Given the description of an element on the screen output the (x, y) to click on. 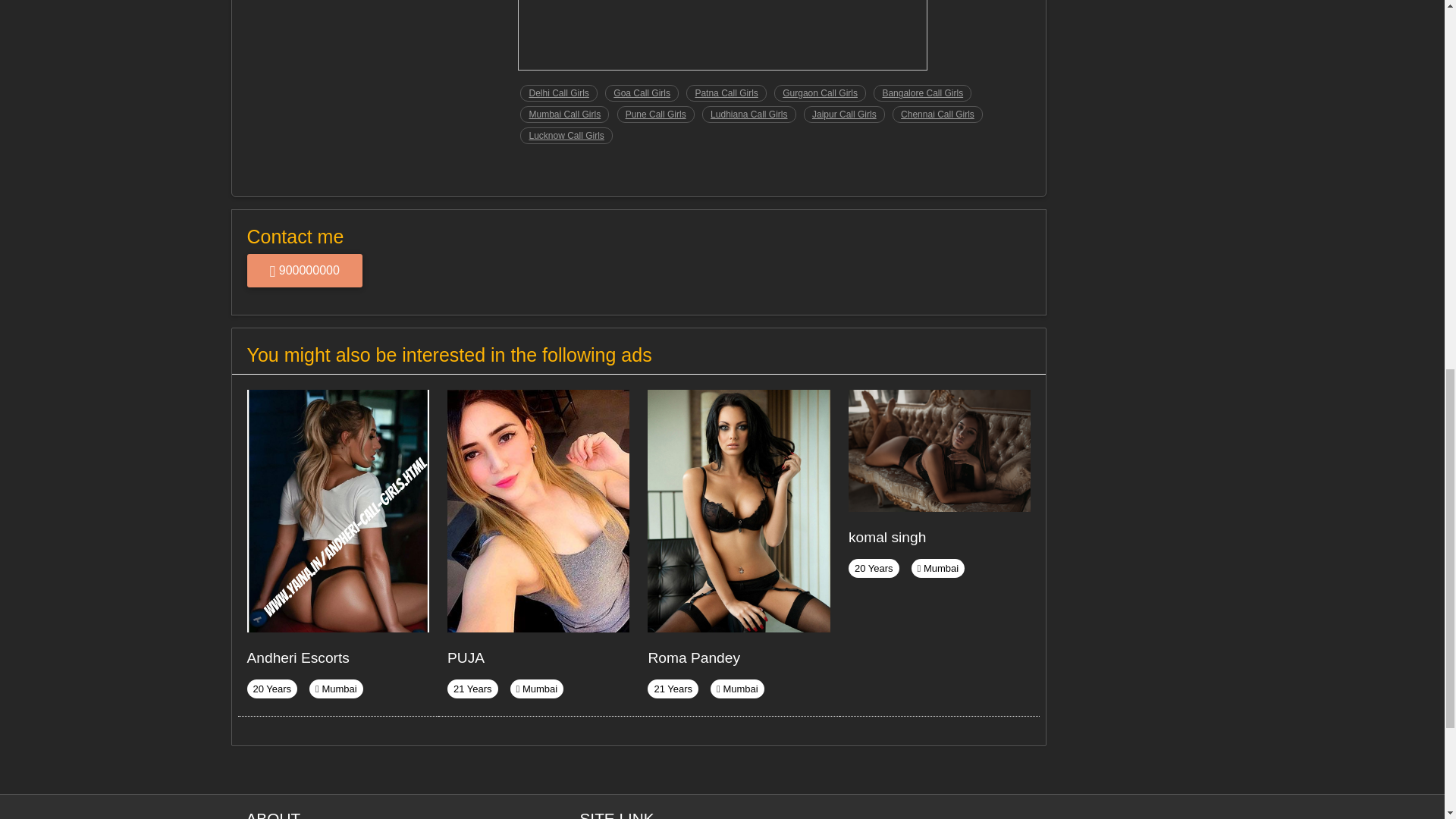
Jaipur Call Girls (844, 114)
Pune Call Girls (655, 114)
900000000 (304, 270)
Delhi Call Girls (557, 93)
Roma Pandey (693, 657)
PUJA (465, 657)
Goa Call Girls (641, 93)
Mumbai Call Girls (563, 114)
Andheri Escorts (298, 657)
Chennai Call Girls (937, 114)
Bangalore Call Girls (922, 93)
Lucknow Call Girls (565, 135)
Patna Call Girls (725, 93)
Gurgaon Call Girls (820, 93)
komal singh (887, 537)
